Given the description of an element on the screen output the (x, y) to click on. 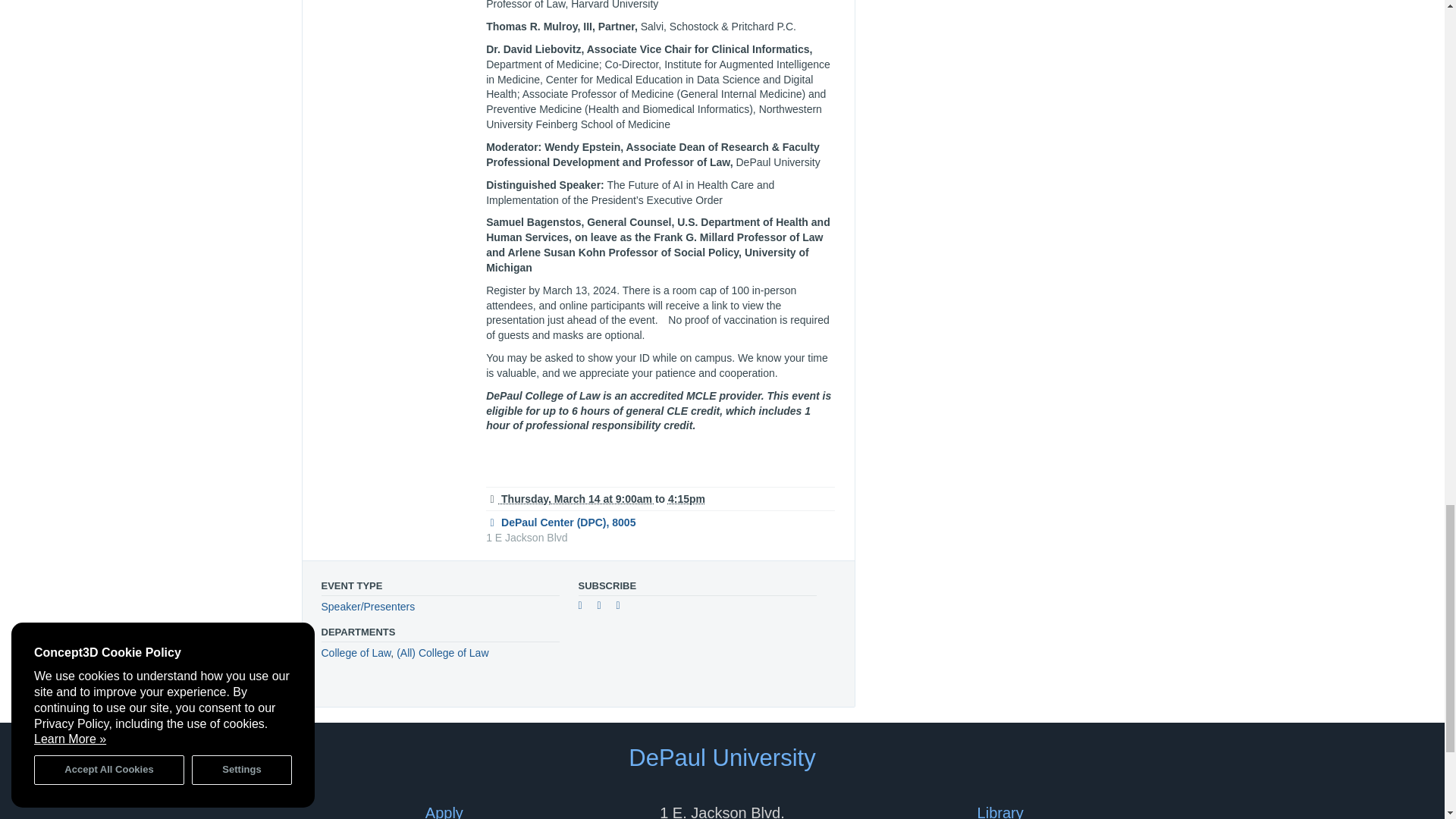
College of Law (356, 653)
Save to Outlook (622, 607)
2024-03-14T16:15:00-05:00 (686, 499)
Apply (444, 811)
Google Calendar (585, 607)
iCal (604, 607)
Save to Google Calendar (585, 607)
Outlook (622, 607)
Library (999, 811)
2024-03-14T09:00:00-05:00 (570, 499)
Save to iCal (604, 607)
